Given the description of an element on the screen output the (x, y) to click on. 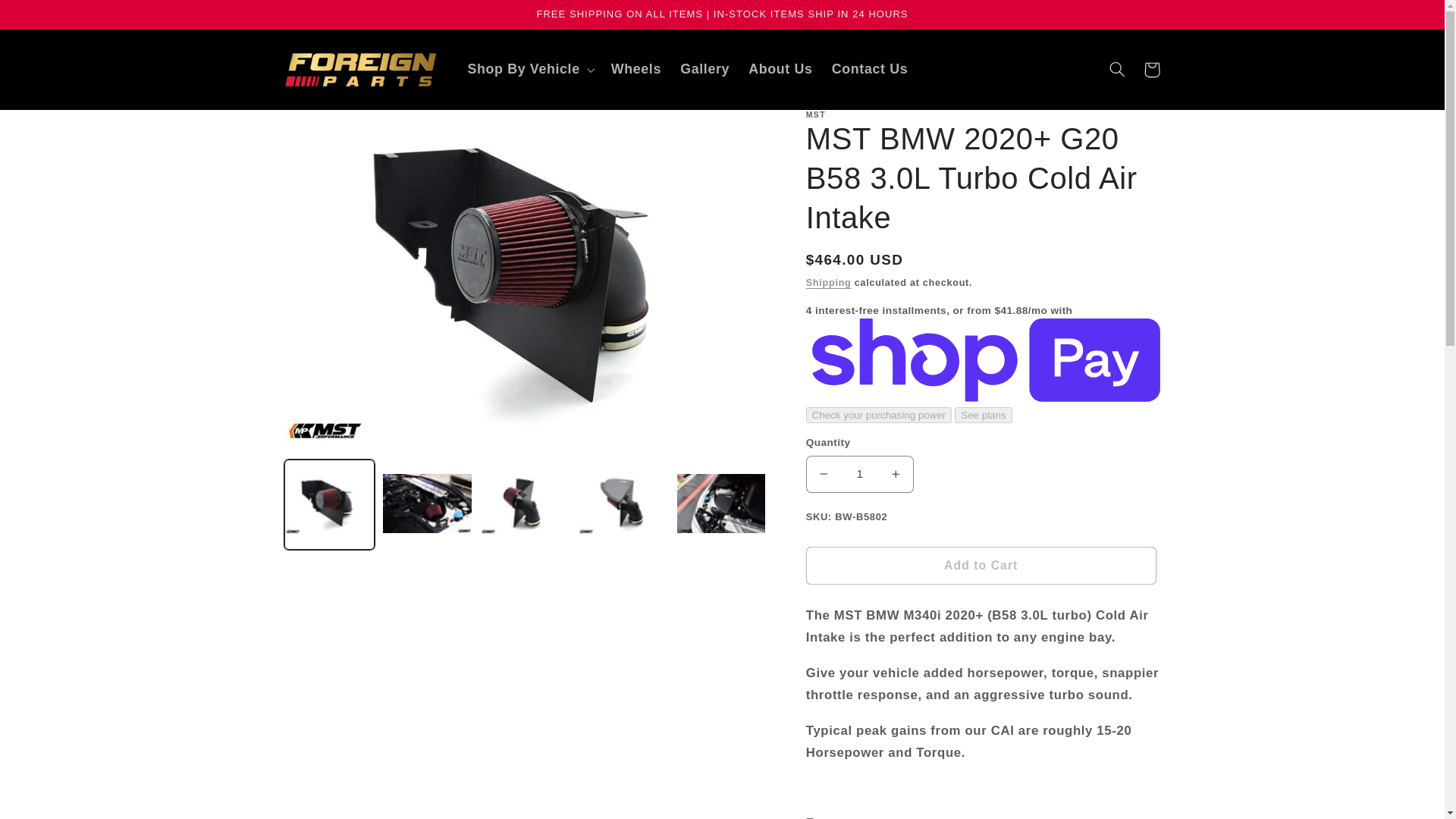
1 (860, 473)
Skip to content (48, 18)
